Given the description of an element on the screen output the (x, y) to click on. 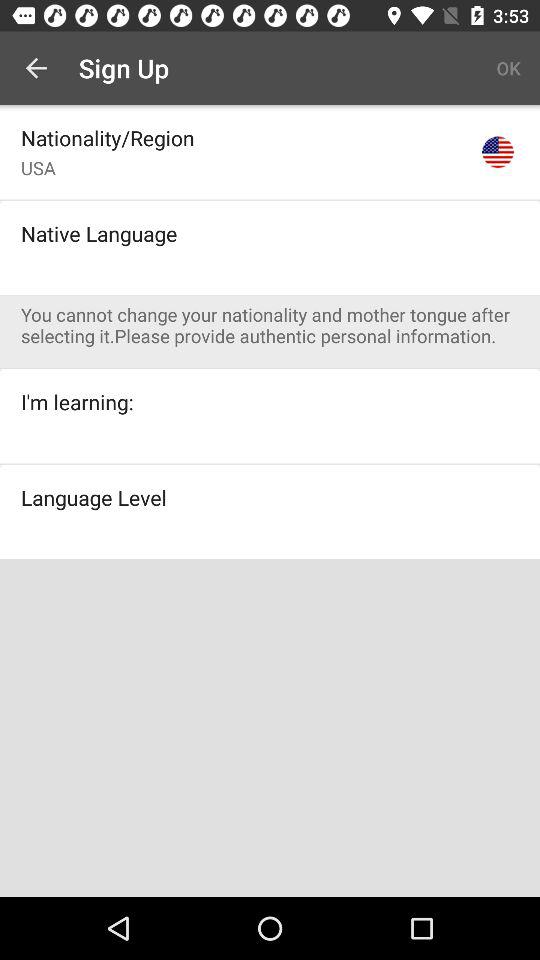
click the item below the ok icon (497, 151)
